Given the description of an element on the screen output the (x, y) to click on. 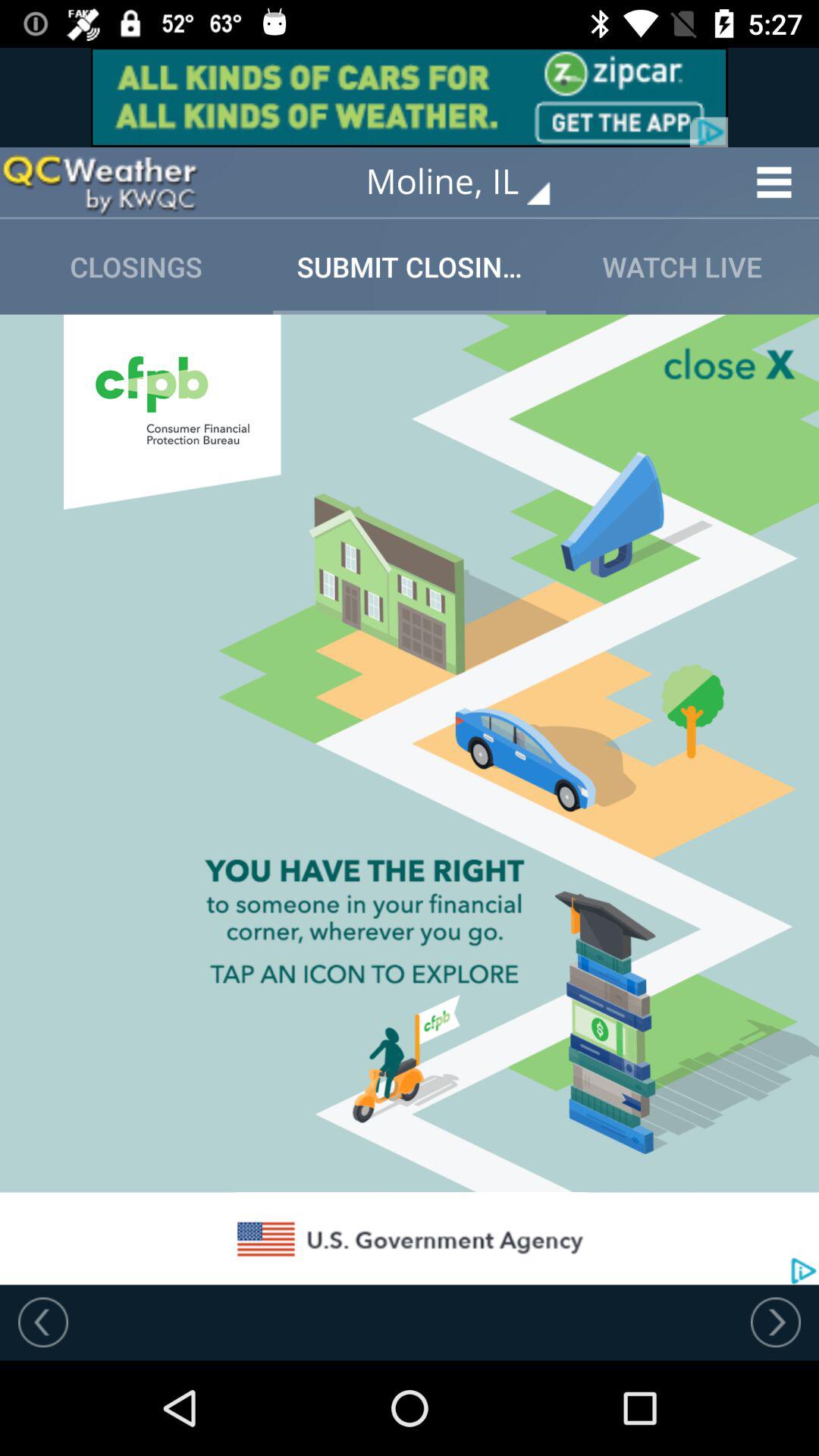
go to advertisement (409, 97)
